Given the description of an element on the screen output the (x, y) to click on. 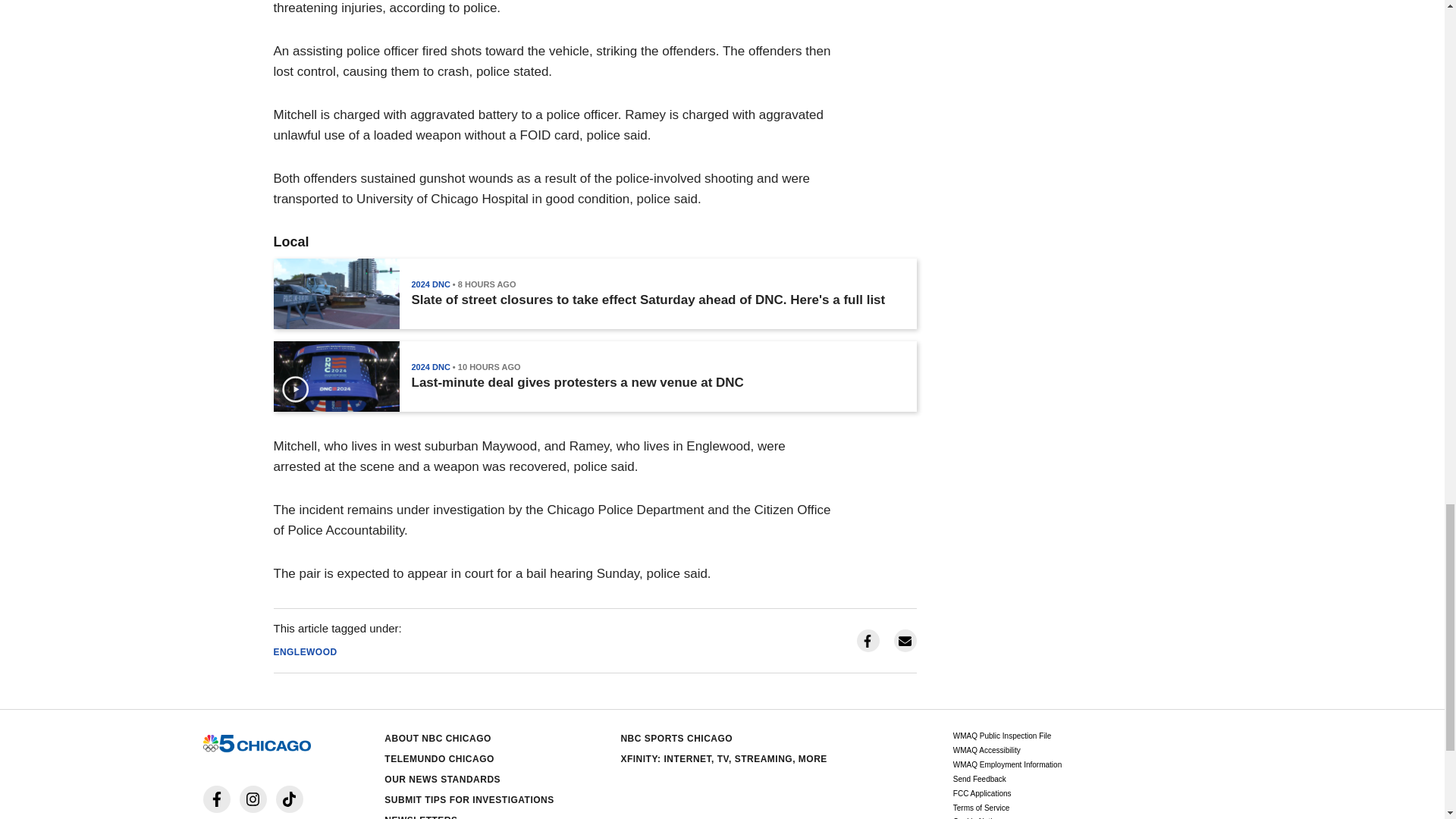
2024 DNC (429, 284)
ENGLEWOOD (304, 651)
2024 DNC (429, 366)
Last-minute deal gives protesters a new venue at DNC (576, 382)
